Given the description of an element on the screen output the (x, y) to click on. 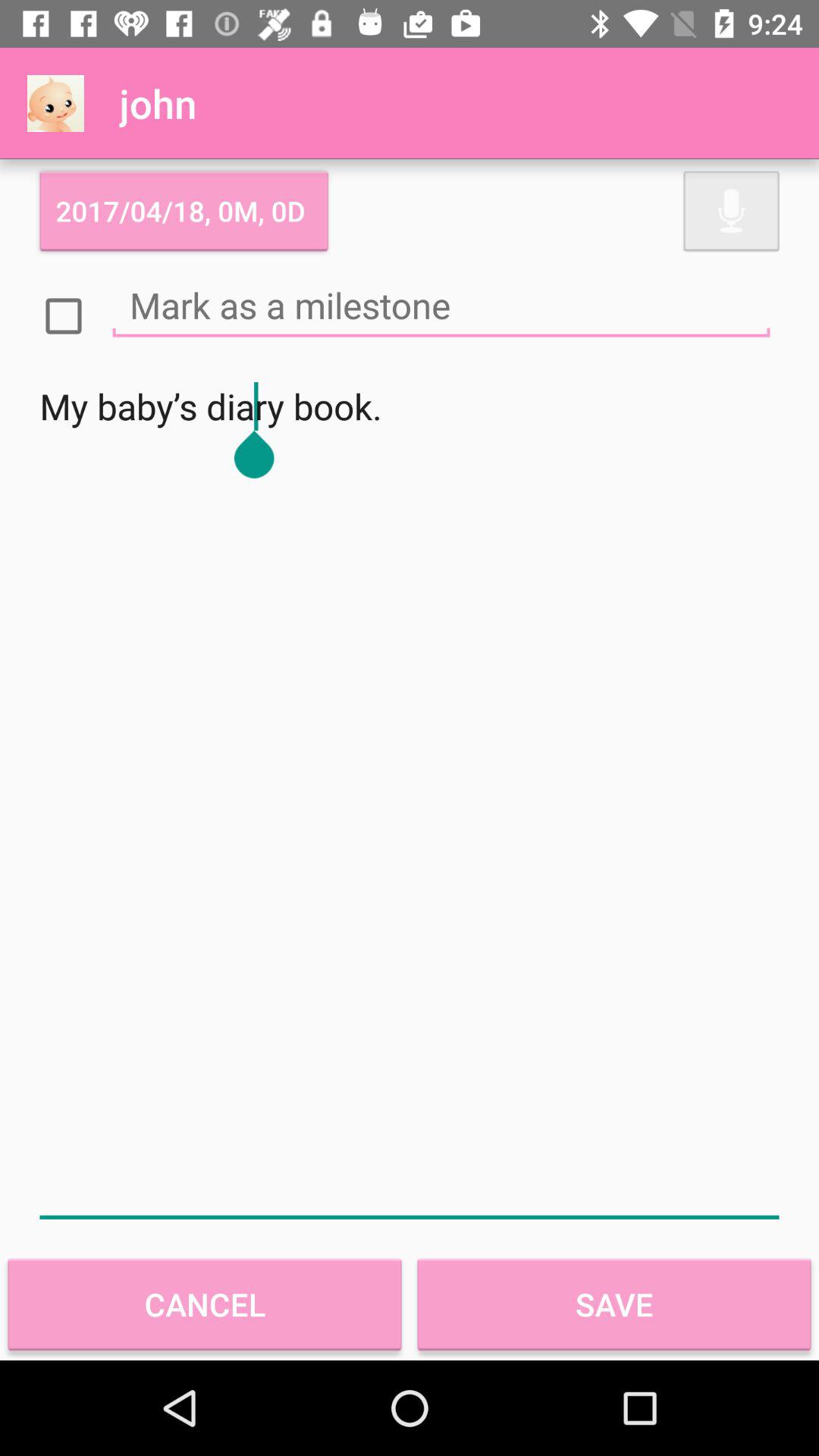
tap icon above my baby s item (440, 305)
